Given the description of an element on the screen output the (x, y) to click on. 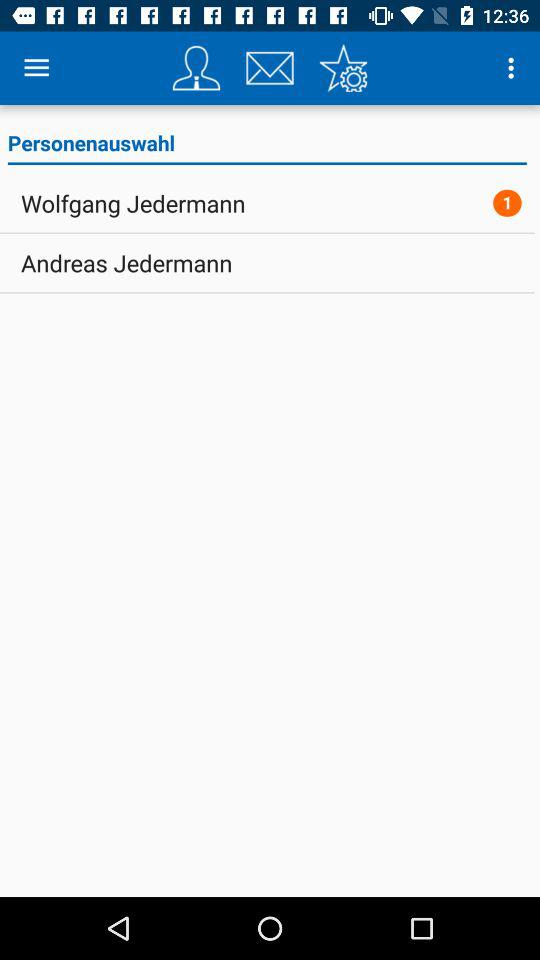
open the item below wolfgang jedermann (126, 263)
